Given the description of an element on the screen output the (x, y) to click on. 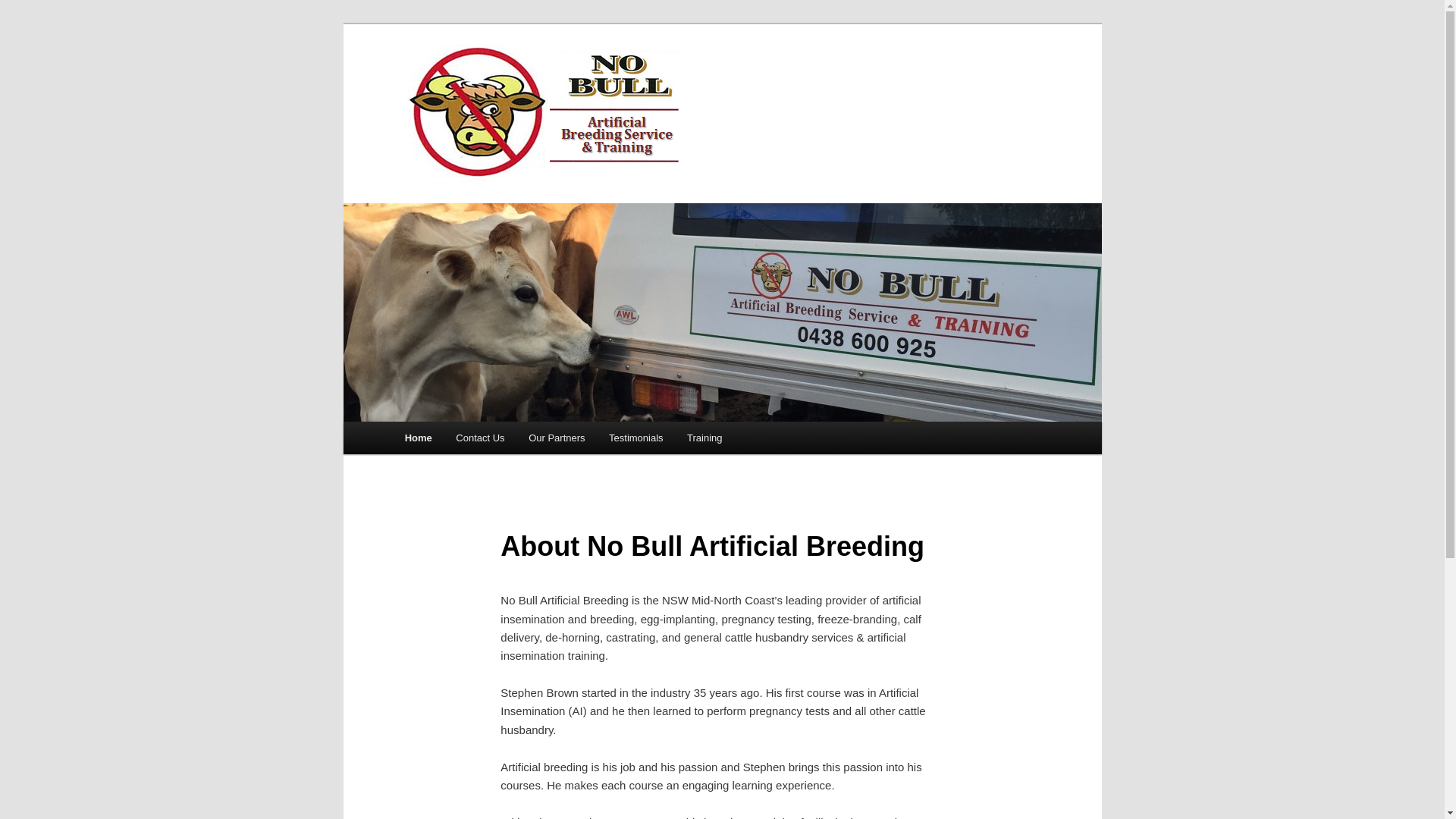
Testimonials Element type: text (635, 437)
Contact Us Element type: text (480, 437)
Skip to primary content Element type: text (414, 421)
No Bull Element type: text (542, 119)
Training Element type: text (704, 437)
Our Partners Element type: text (556, 437)
Home Element type: text (418, 437)
